Given the description of an element on the screen output the (x, y) to click on. 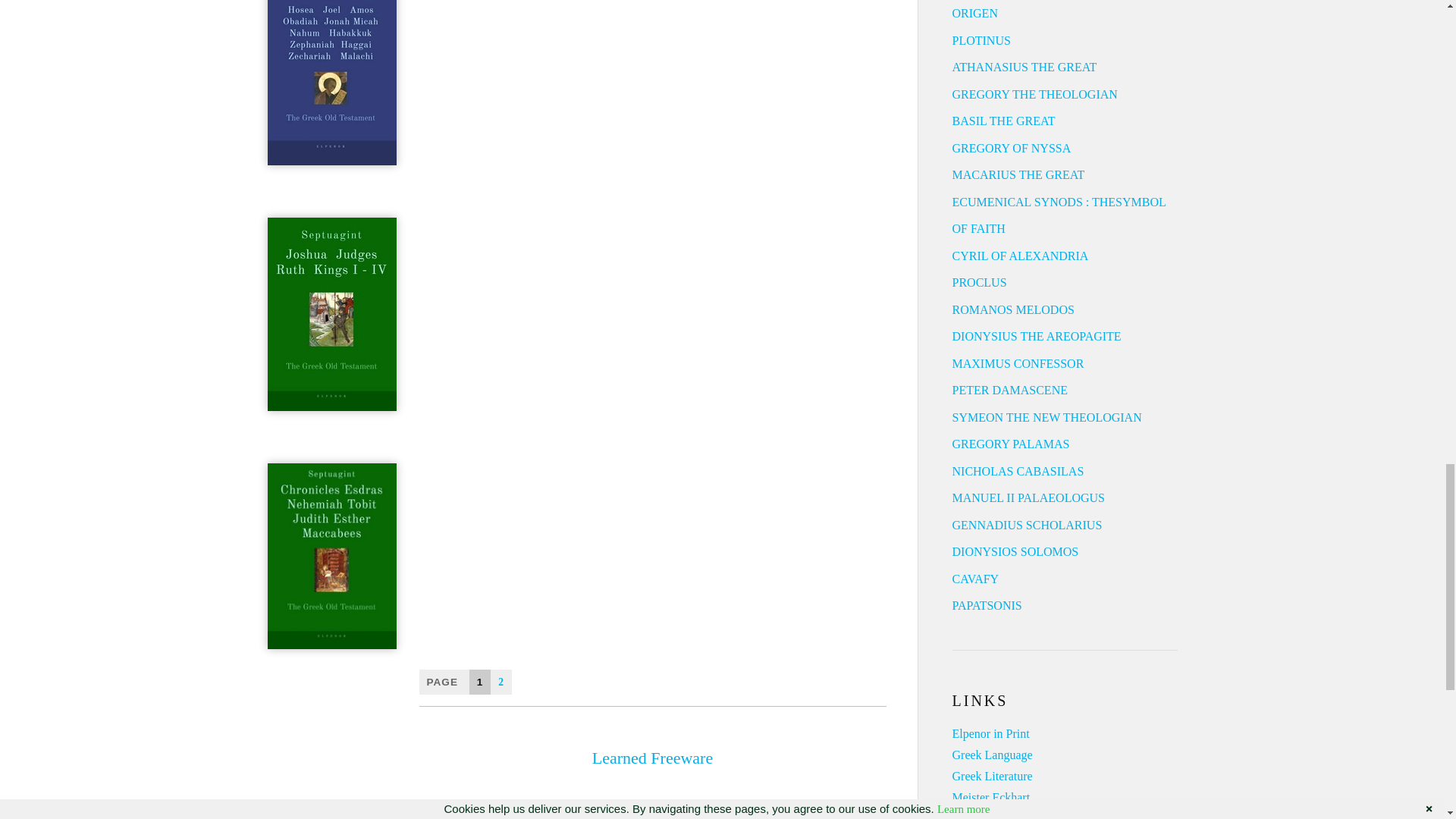
Free Lessons in Greek, Grammar, Syntax, Resources (992, 754)
Elpenor Editions (990, 733)
